Given the description of an element on the screen output the (x, y) to click on. 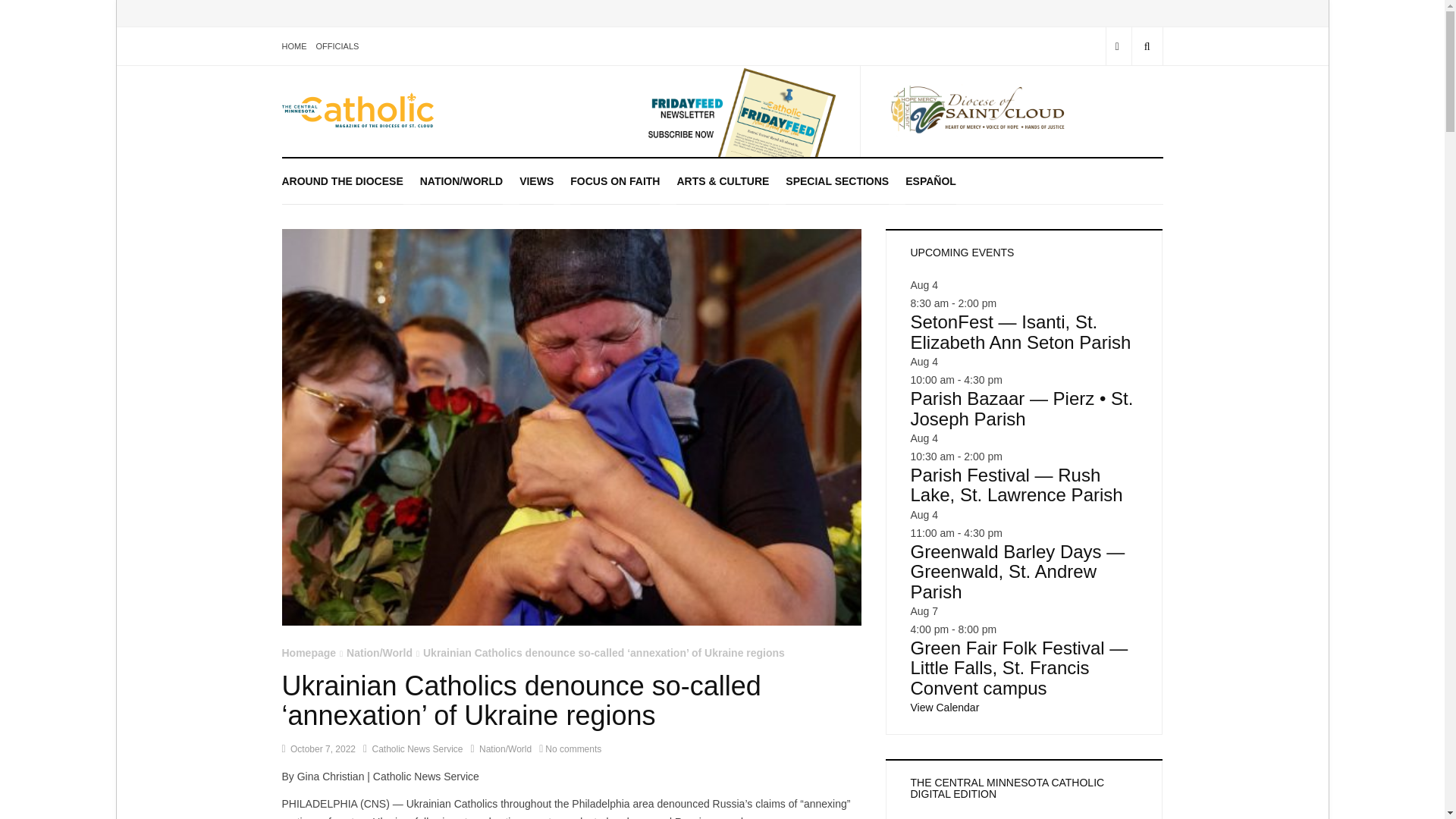
View more events. (944, 707)
OFFICIALS (336, 46)
Homepage (309, 653)
AROUND THE DIOCESE (342, 180)
